Given the description of an element on the screen output the (x, y) to click on. 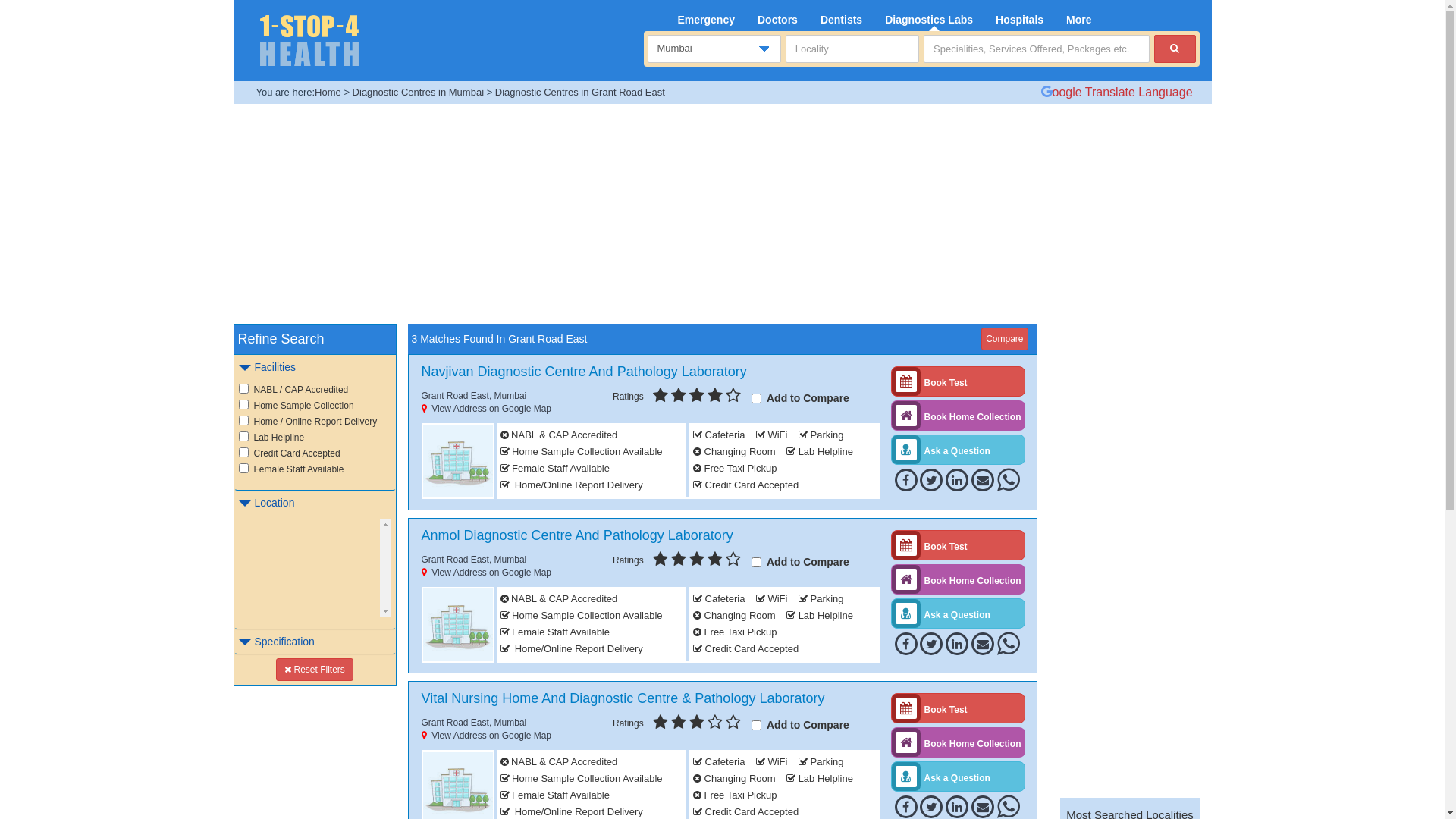
Book Home Collection Element type: text (957, 579)
Dentists Element type: text (841, 15)
oogle Translate Language Element type: text (1116, 92)
Compare Element type: text (1004, 338)
Location Element type: text (264, 502)
Ask a Question Element type: text (957, 776)
1stop4health Salon Element type: hover (308, 39)
Refine Search Element type: text (281, 338)
Advertisement Element type: hover (699, 217)
Ask a Question Element type: text (957, 449)
Book Home Collection Element type: text (957, 742)
Reset Filters Element type: text (314, 669)
More Element type: text (1078, 15)
Hospitals Element type: text (1019, 15)
Facilities Element type: text (265, 366)
Emergency Element type: text (705, 15)
Specification Element type: text (274, 641)
Book Test Element type: text (957, 708)
Grant Road East, Mumbai
 View Address on Google Map Element type: text (486, 565)
Book Home Collection Element type: text (957, 415)
Diagnostic Centres in Mumbai Element type: text (417, 91)
Book Test Element type: text (957, 545)
Diagnostic Centres in Grant Road East Element type: text (580, 91)
Anmol Diagnostic Centre And Pathology Laboratory  Element type: text (579, 534)
Home Element type: text (327, 91)
Grant Road East, Mumbai
 View Address on Google Map Element type: text (486, 402)
Advertisement Element type: hover (1129, 550)
Grant Road East, Mumbai
 View Address on Google Map Element type: text (486, 728)
Diagnostics Labs Element type: text (928, 15)
Navjivan Diagnostic Centre And Pathology Laboratory  Element type: text (585, 371)
Doctors Element type: text (777, 15)
Ask a Question Element type: text (957, 613)
Book Test Element type: text (957, 381)
